Given the description of an element on the screen output the (x, y) to click on. 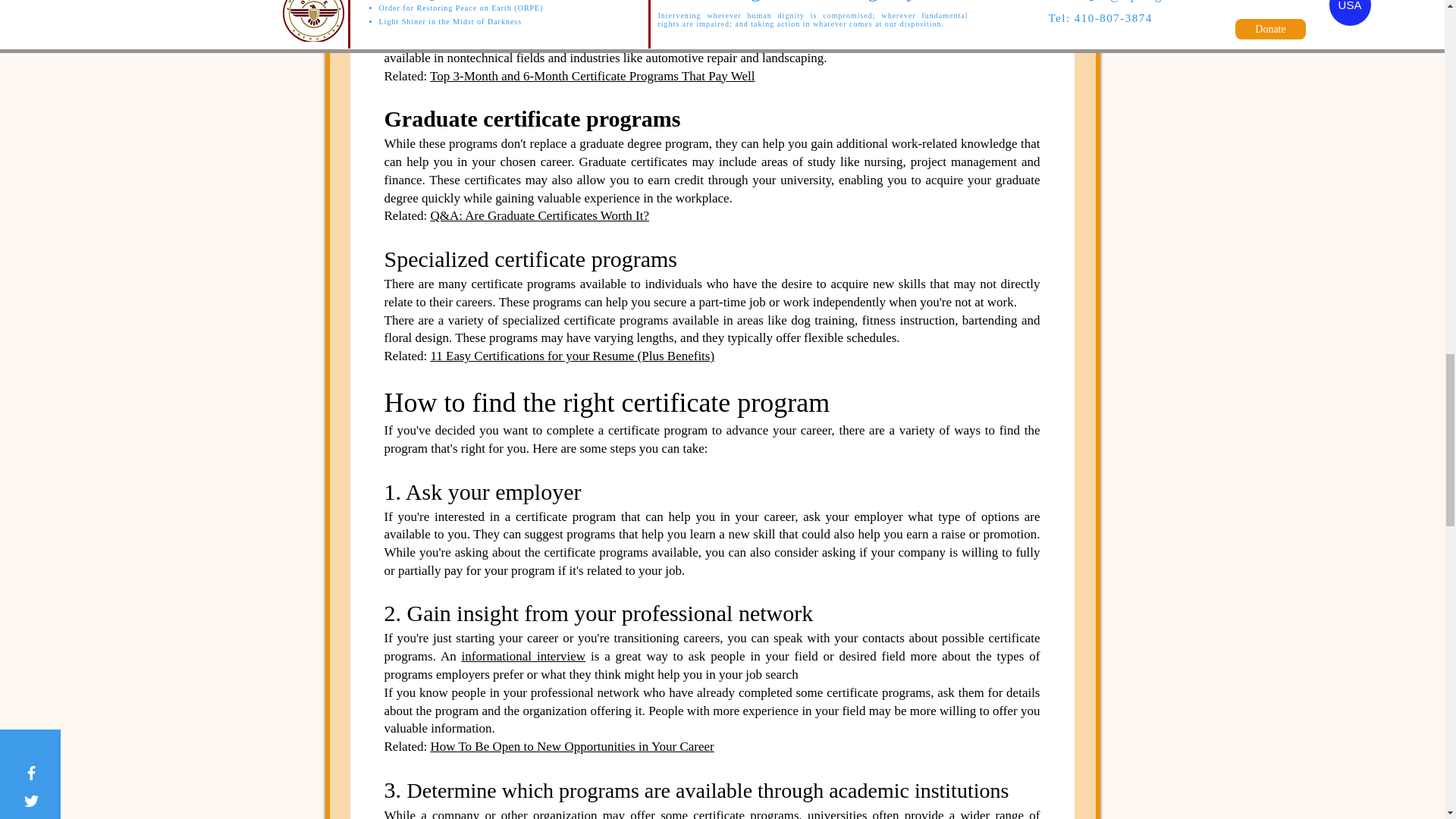
How To Be Open to New Opportunities in Your Career (571, 746)
informational interview (523, 656)
Top 3-Month and 6-Month Certificate Programs That Pay Well (591, 75)
